Given the description of an element on the screen output the (x, y) to click on. 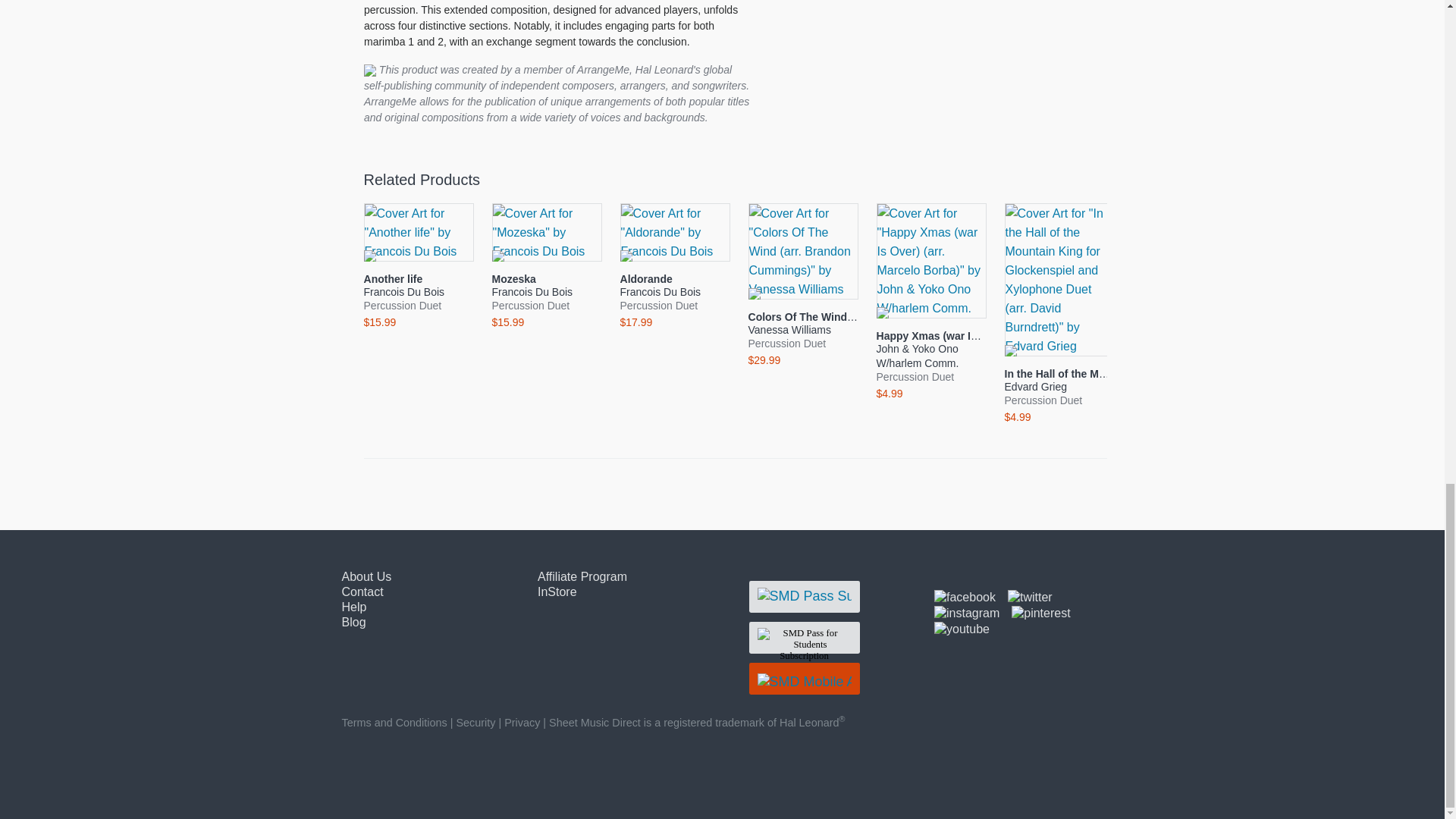
pinterest (1040, 613)
youtube (962, 629)
facebook (964, 597)
twitter (1029, 597)
instagram (966, 613)
